Given the description of an element on the screen output the (x, y) to click on. 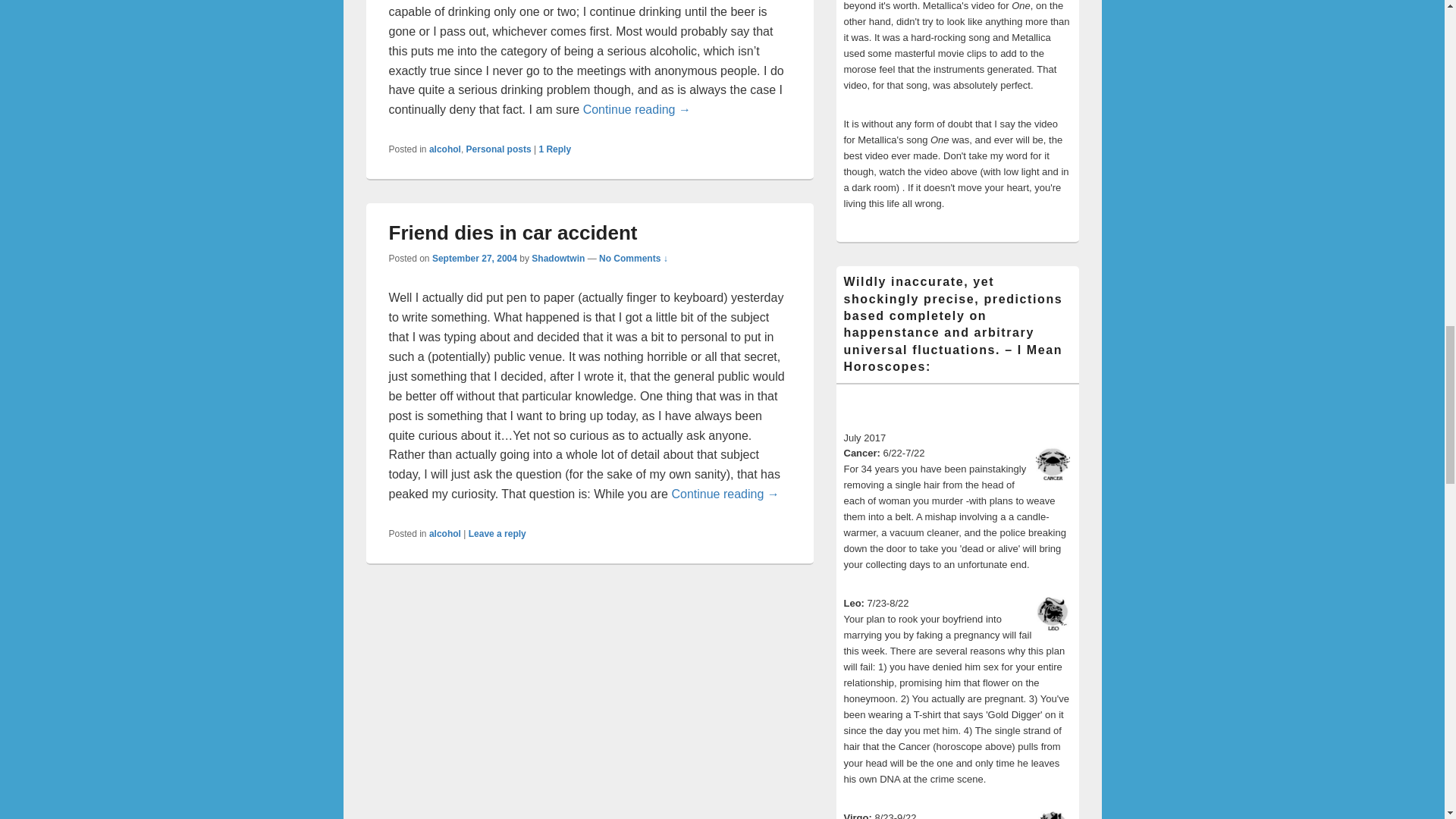
Shadowtwin (558, 258)
alcohol (445, 149)
Permalink to Friend dies in car accident (512, 232)
Personal posts (498, 149)
September 27, 2004 (474, 258)
5:11 pm (474, 258)
1 Reply (554, 149)
Friend dies in car accident (512, 232)
